Given the description of an element on the screen output the (x, y) to click on. 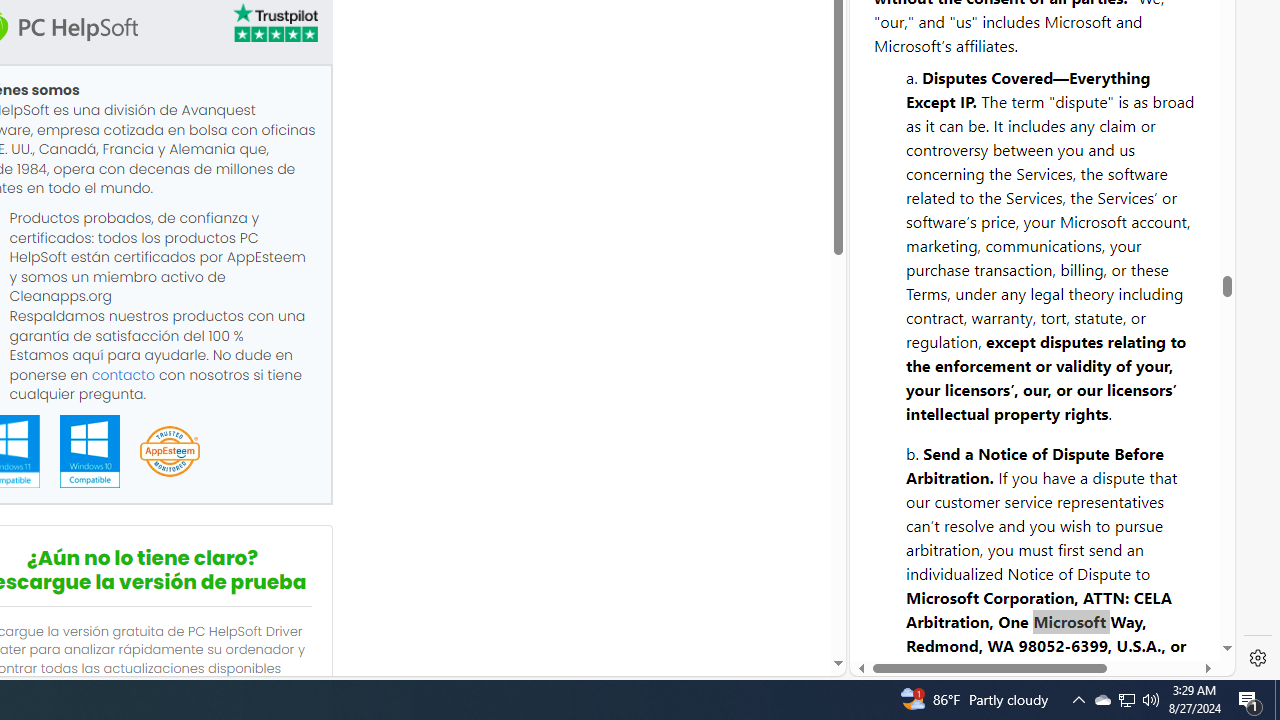
TrustPilot (274, 25)
TrustPilot (274, 22)
App Esteem (169, 452)
